Given the description of an element on the screen output the (x, y) to click on. 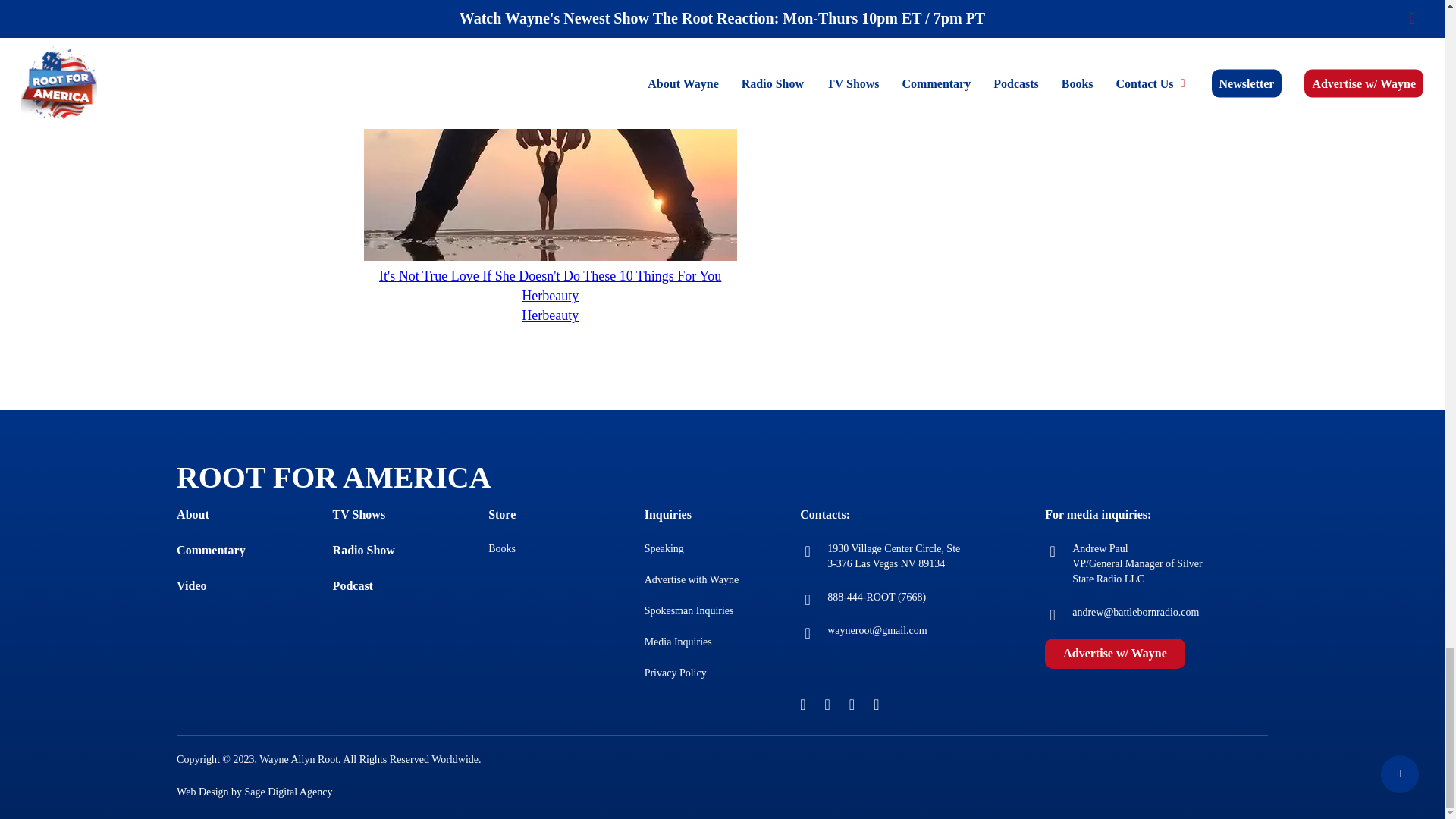
Commentary (211, 549)
Speaking (664, 548)
Books (501, 548)
Video (191, 585)
Radio Show (363, 549)
TV Shows (359, 513)
Inquiries (668, 513)
Books (501, 548)
TV Shows (359, 513)
Spokesman Inquiries (689, 610)
Advertise with Wayne (692, 579)
Commentary (211, 549)
Advertise with Wayne (692, 579)
Speaking (664, 548)
Video (191, 585)
